Given the description of an element on the screen output the (x, y) to click on. 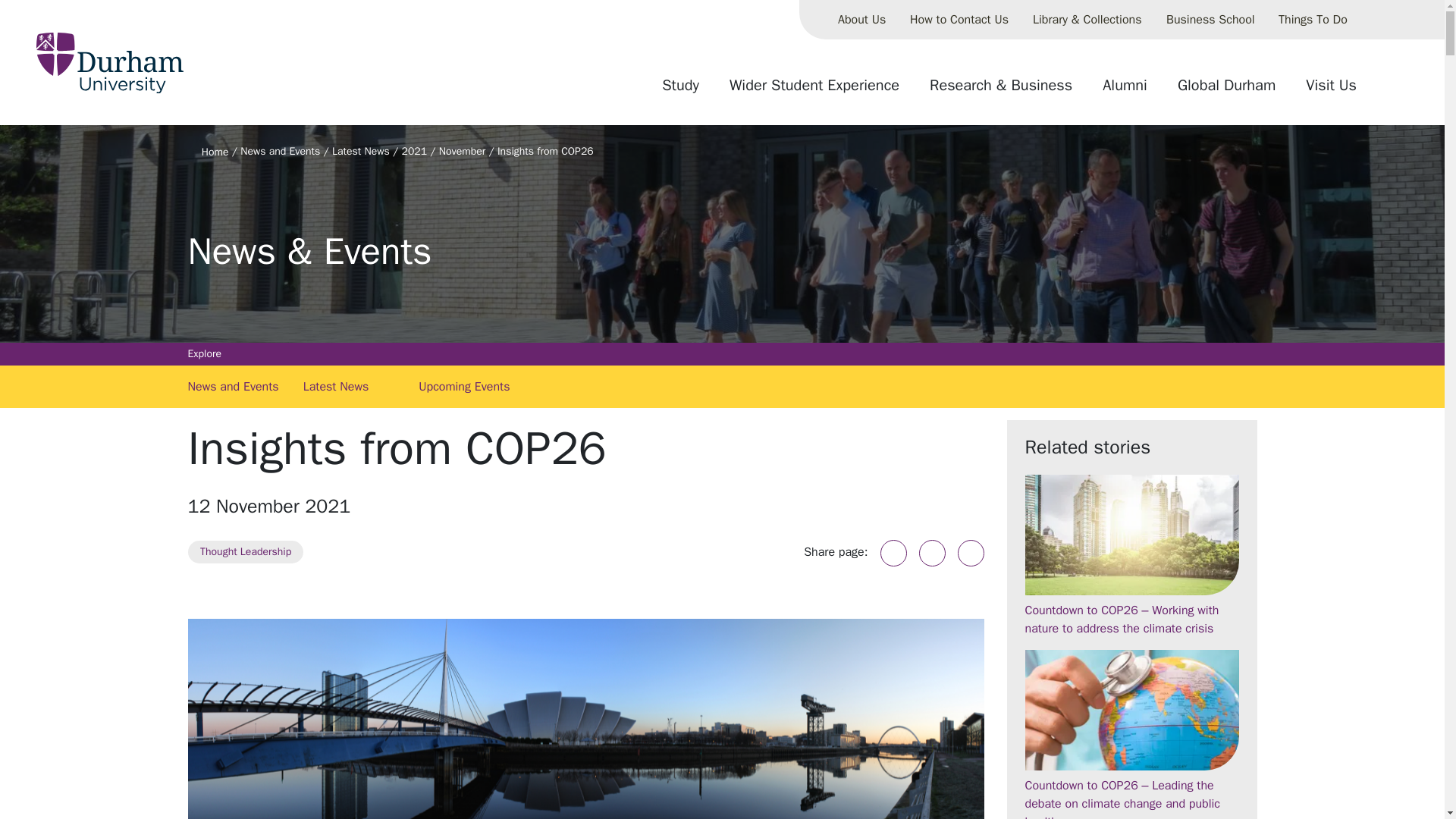
Alumni (1124, 91)
Visit Us (1331, 91)
How to Contact Us (959, 19)
Wider Student Experience (814, 91)
Things To Do (1312, 19)
About Us (861, 19)
Global Durham (1226, 91)
Study (680, 91)
Business School (1210, 19)
